Given the description of an element on the screen output the (x, y) to click on. 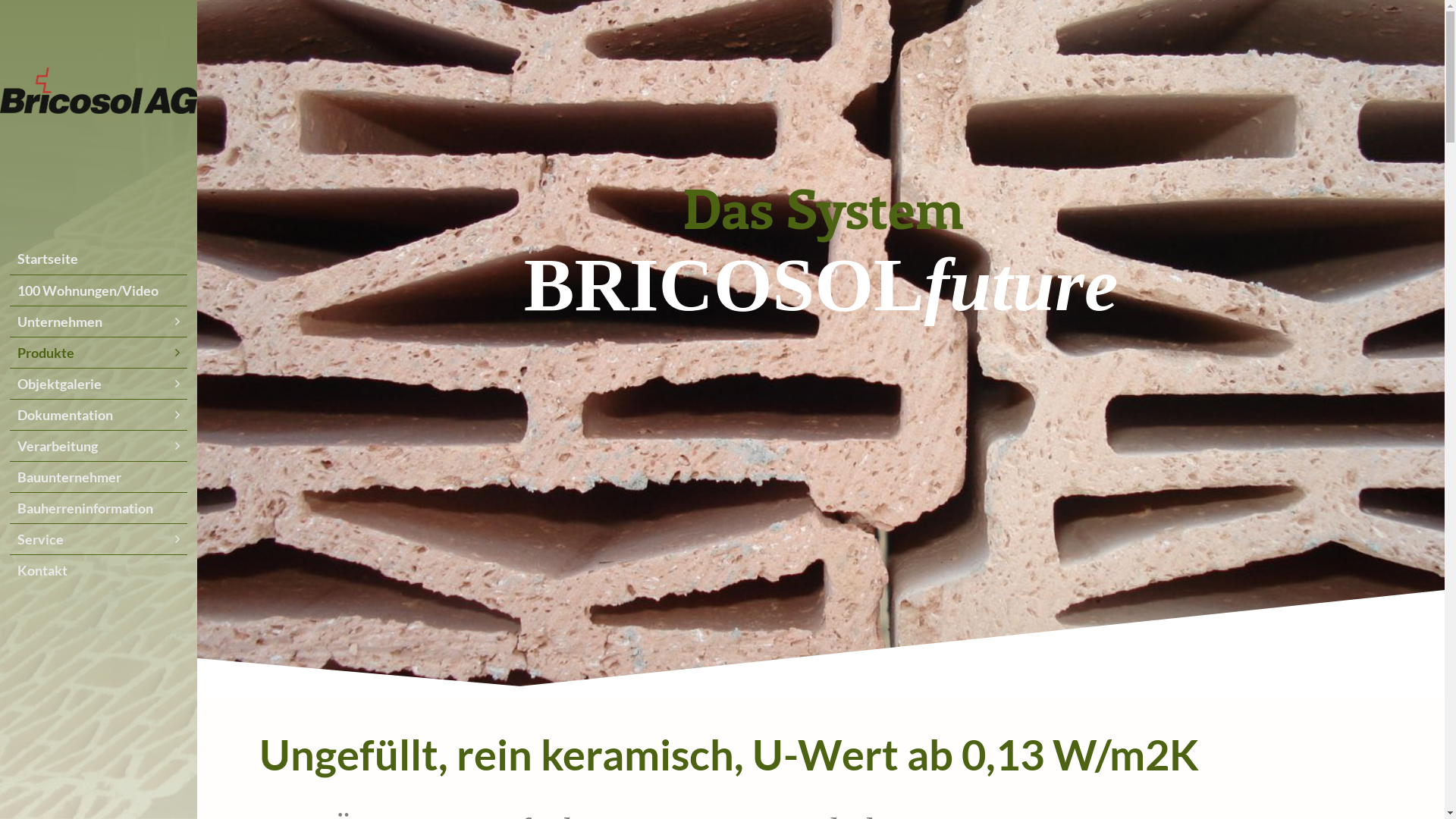
Bauunternehmer Element type: text (98, 476)
Dokumentation Element type: text (98, 414)
Verarbeitung Element type: text (98, 445)
Service Element type: text (98, 539)
Produkte Element type: text (98, 352)
Bauherreninformation Element type: text (98, 507)
Objektgalerie Element type: text (98, 383)
Unternehmen Element type: text (98, 321)
100 Wohnungen/Video Element type: text (98, 290)
Startseite Element type: text (98, 258)
Kontakt Element type: text (98, 570)
